Given the description of an element on the screen output the (x, y) to click on. 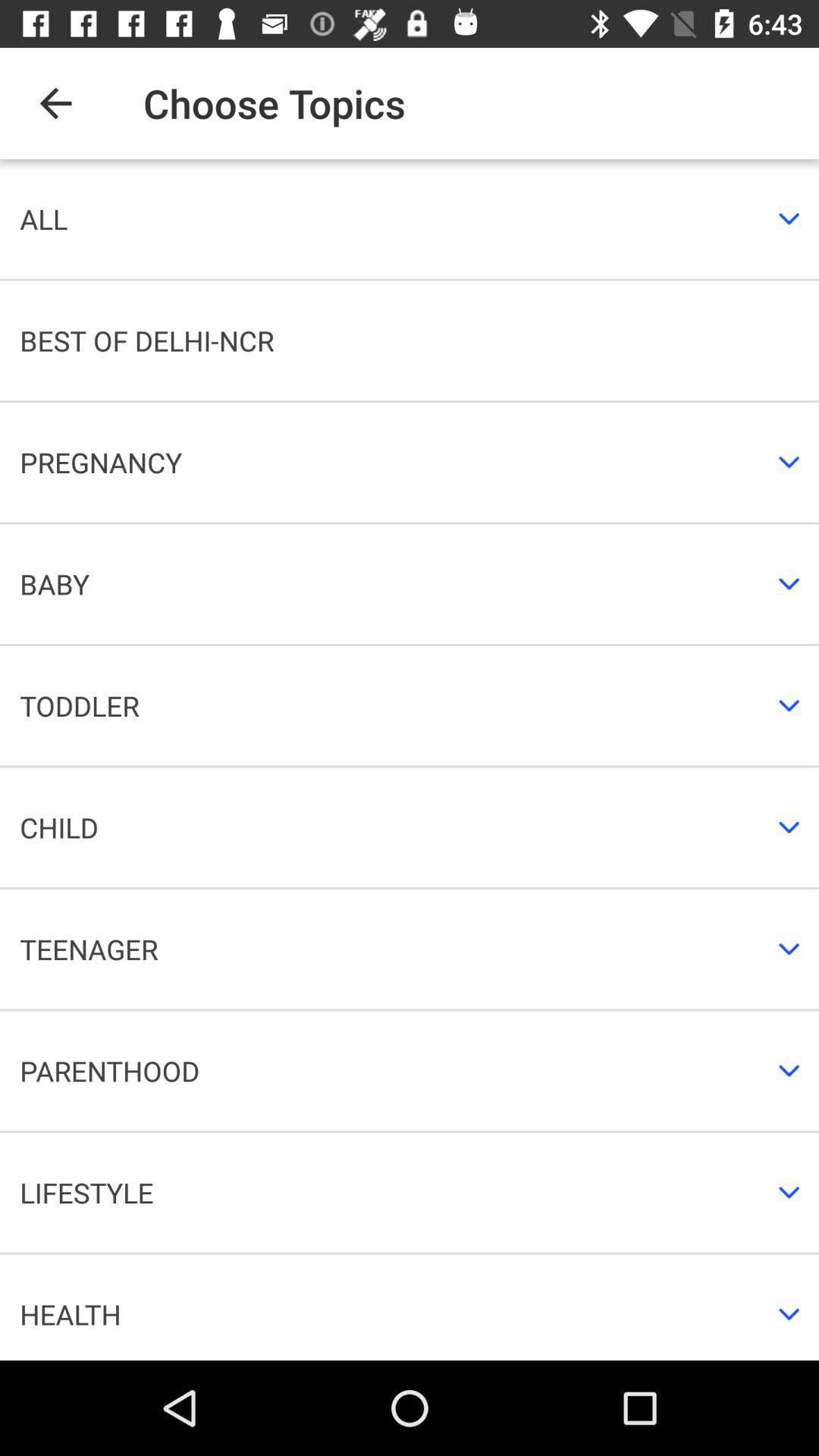
turn off icon next to the choose topics icon (55, 103)
